Given the description of an element on the screen output the (x, y) to click on. 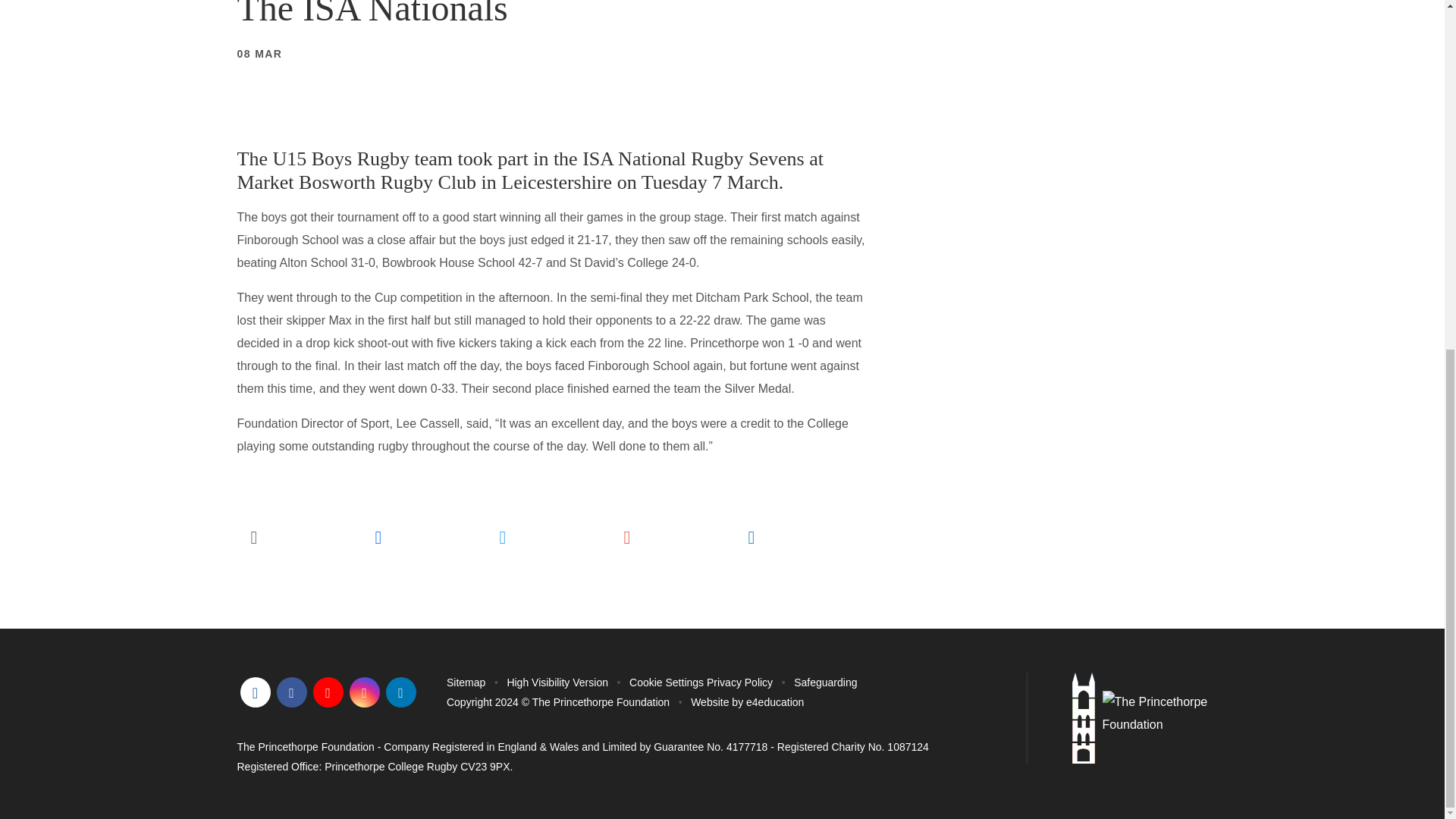
Cookie Settings (665, 682)
